Given the description of an element on the screen output the (x, y) to click on. 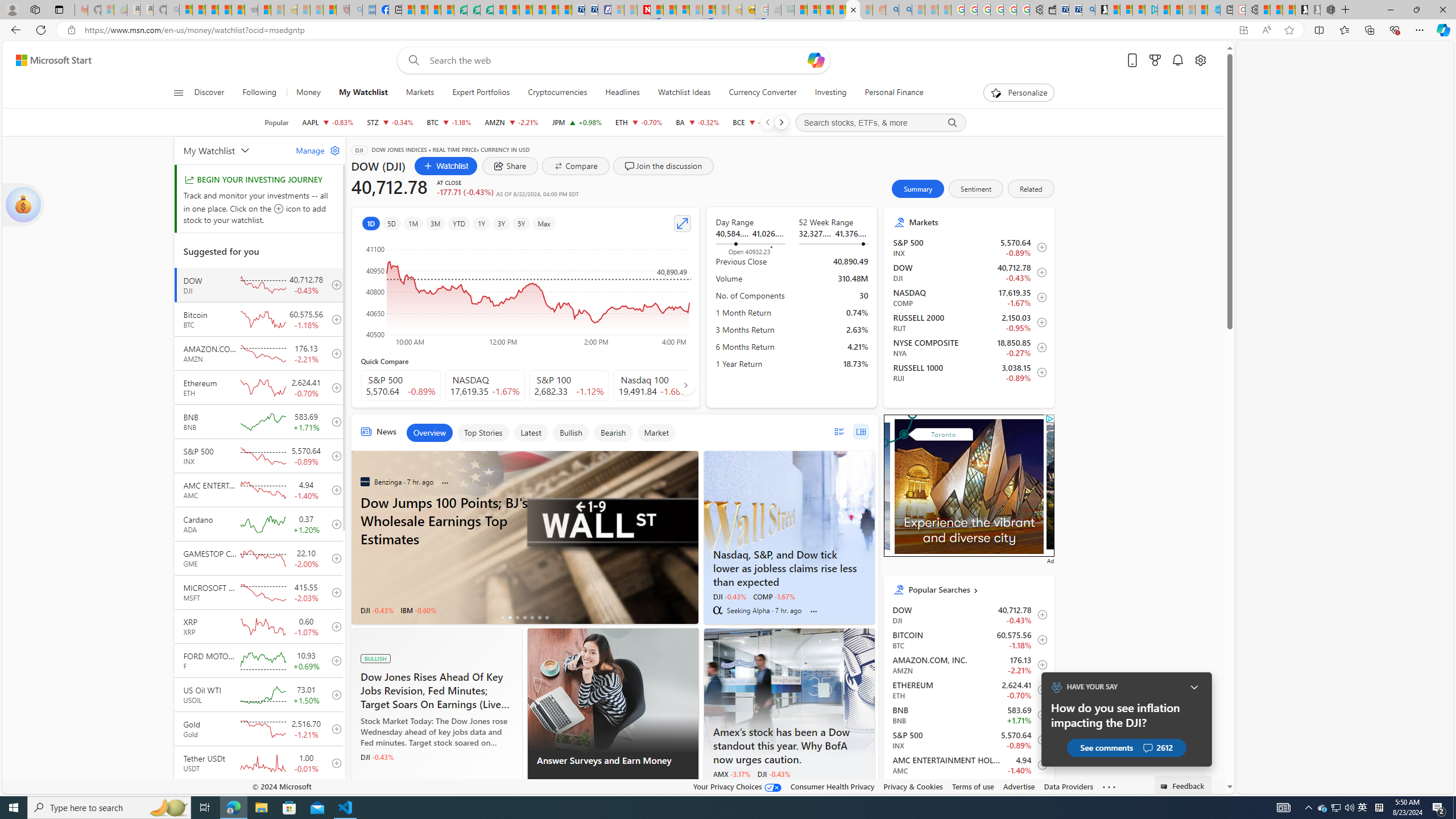
Investing (830, 92)
BTC Bitcoin decrease 60,575.56 -716.61 -1.18% (449, 122)
AutomationID: bg3 (1130, 485)
Data Providers (1068, 786)
AutomationID: brandFlyLogo (969, 423)
